Given the description of an element on the screen output the (x, y) to click on. 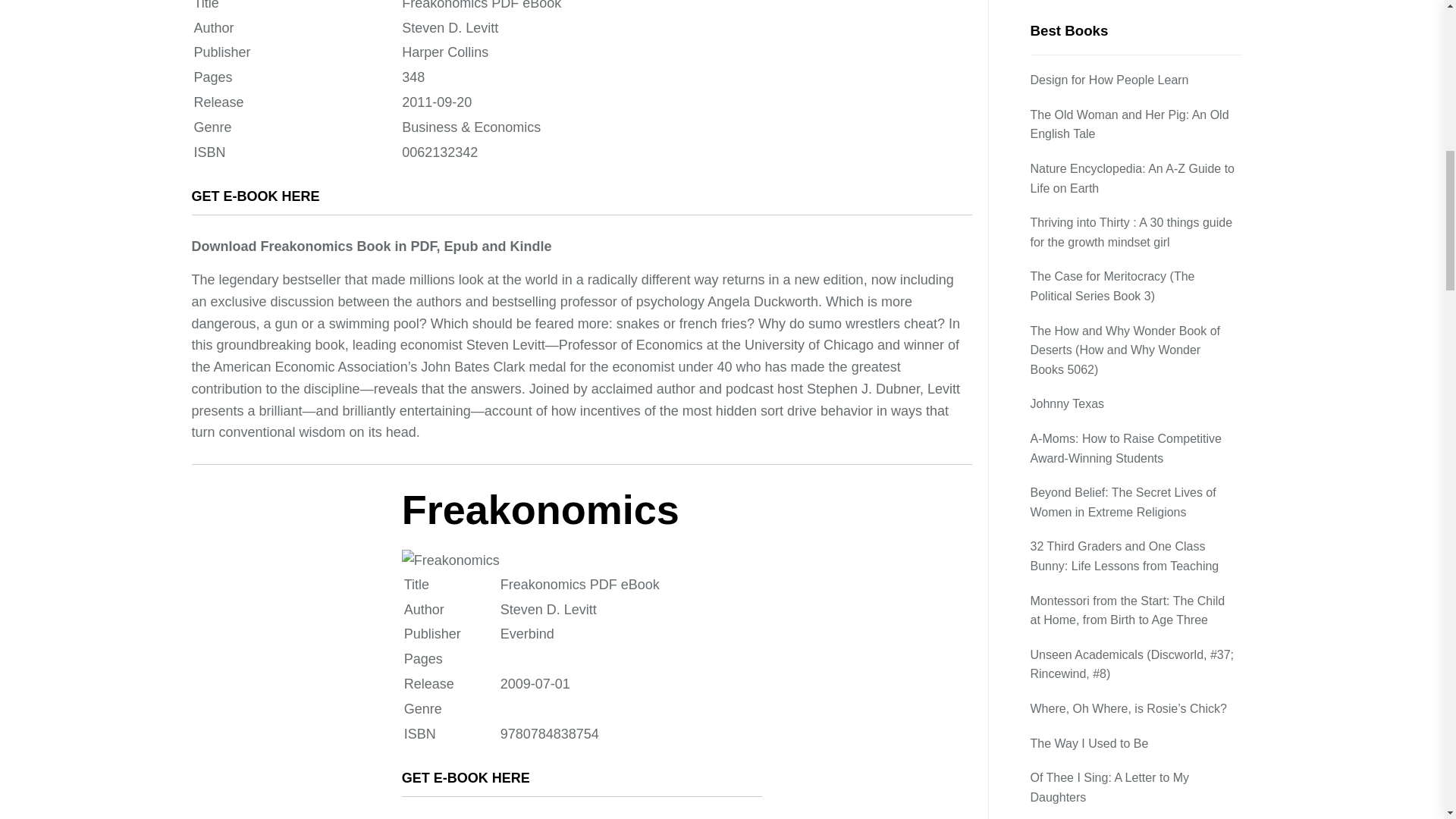
Ways of Seeing (1074, 282)
Make Good Art (1072, 213)
Of Thee I Sing: A Letter to My Daughters (1135, 80)
GET E-BOOK HERE (254, 196)
To Sir, With Love (1077, 178)
The Way I Used to Be (1091, 36)
GET E-BOOK HERE (465, 777)
Famous STEM Inventors (1099, 248)
